Given the description of an element on the screen output the (x, y) to click on. 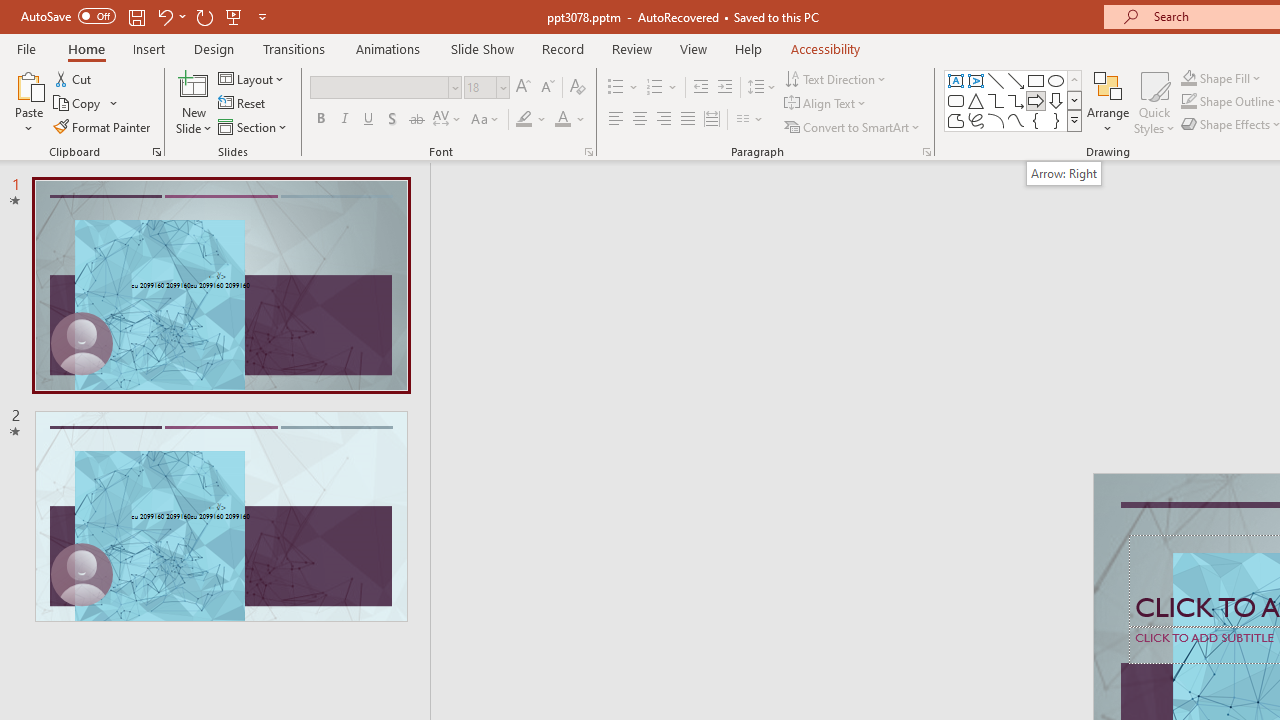
Shadow (392, 119)
Columns (750, 119)
Increase Indent (725, 87)
Line Spacing (762, 87)
Justify (687, 119)
Right Brace (1055, 120)
Layout (252, 78)
